Given the description of an element on the screen output the (x, y) to click on. 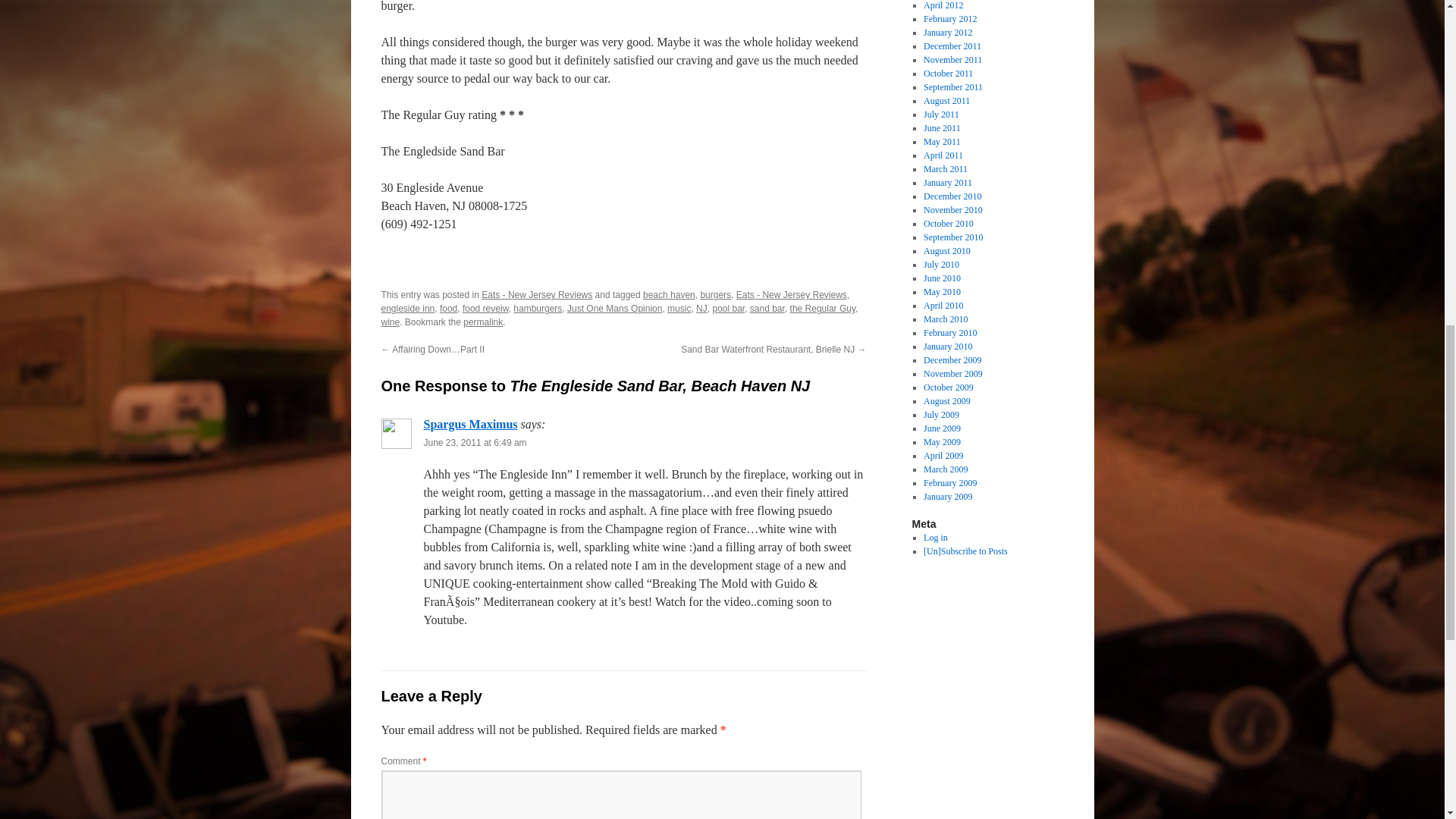
Eats - New Jersey Reviews (791, 294)
wine (389, 321)
sand bar (766, 308)
beach haven (669, 294)
engleside inn (406, 308)
Spargus Maximus (469, 423)
Just One Mans Opinion (614, 308)
food reveiw (485, 308)
food (448, 308)
hamburgers (537, 308)
pool bar (727, 308)
music (678, 308)
permalink (482, 321)
NJ (701, 308)
Eats - New Jersey Reviews (536, 294)
